Given the description of an element on the screen output the (x, y) to click on. 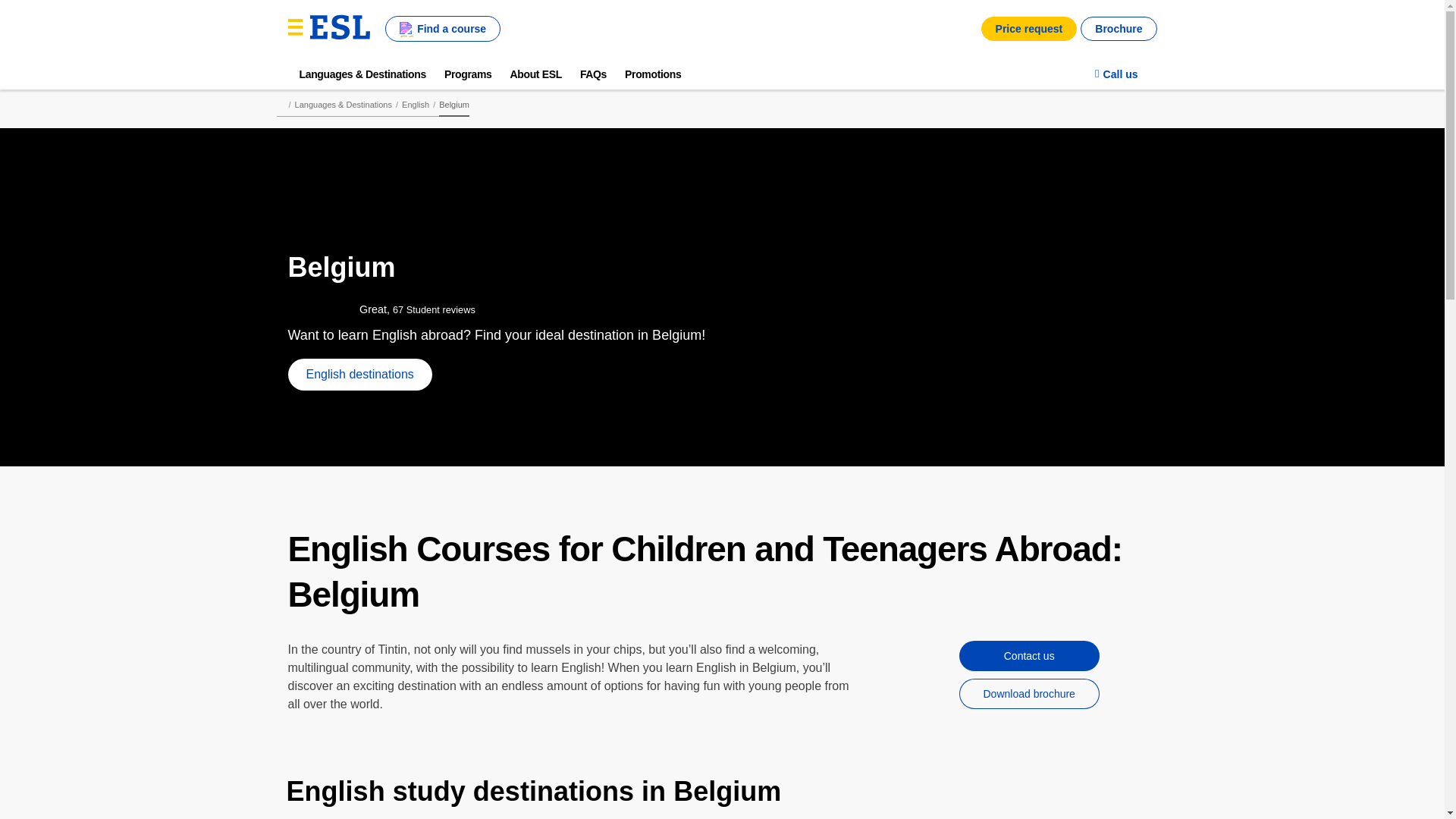
Find a course (442, 28)
Brochure (1118, 28)
Price request (1029, 28)
